Given the description of an element on the screen output the (x, y) to click on. 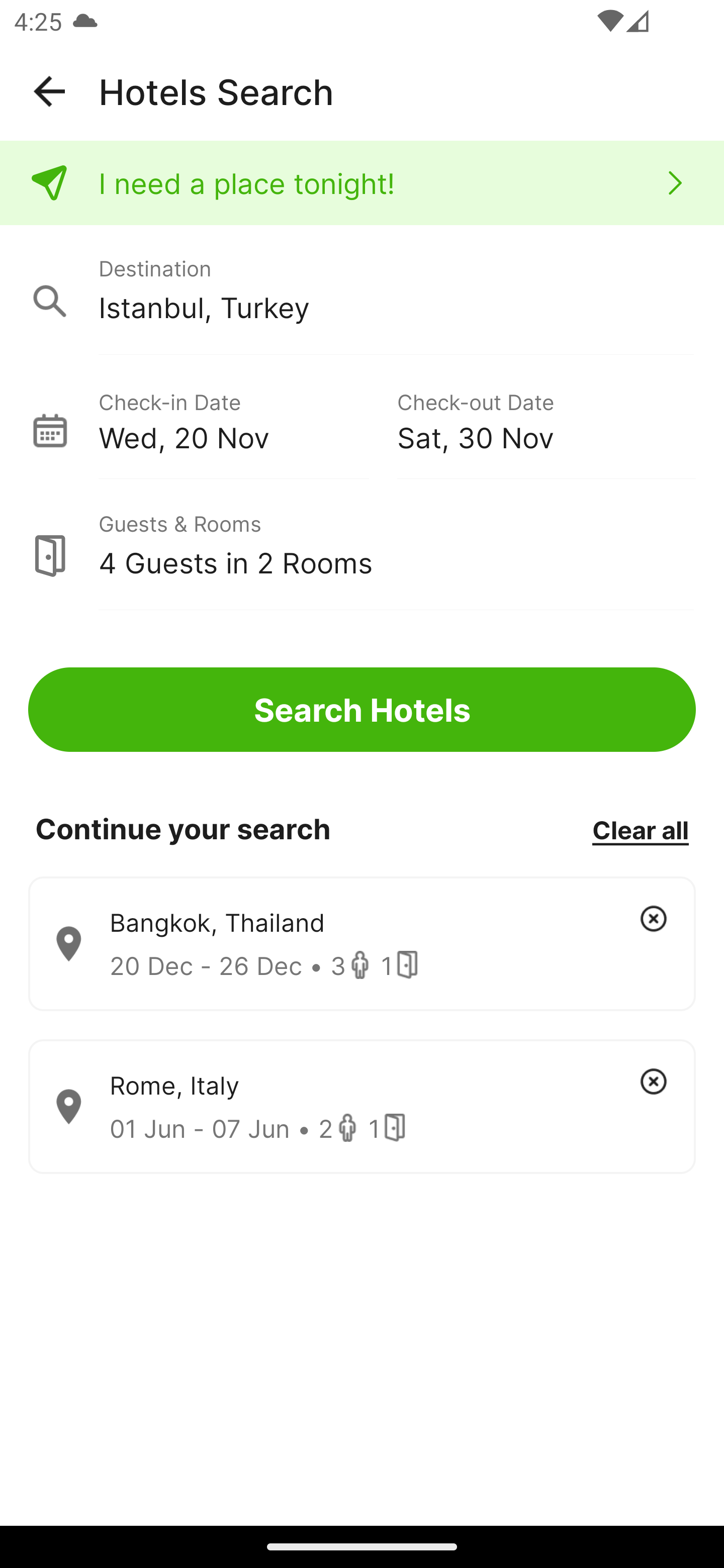
I need a place tonight! (362, 183)
Destination Istanbul, Turkey (362, 290)
Check-in Date Wed, 20 Nov (247, 418)
Check-out Date Sat, 30 Nov (546, 418)
Guests & Rooms 4 Guests in 2 Rooms (362, 545)
Search Hotels (361, 709)
Clear all (640, 829)
Bangkok, Thailand 20 Dec - 26 Dec • 3  1  (361, 943)
Rome, Italy 01 Jun - 07 Jun • 2  1  (361, 1106)
